Given the description of an element on the screen output the (x, y) to click on. 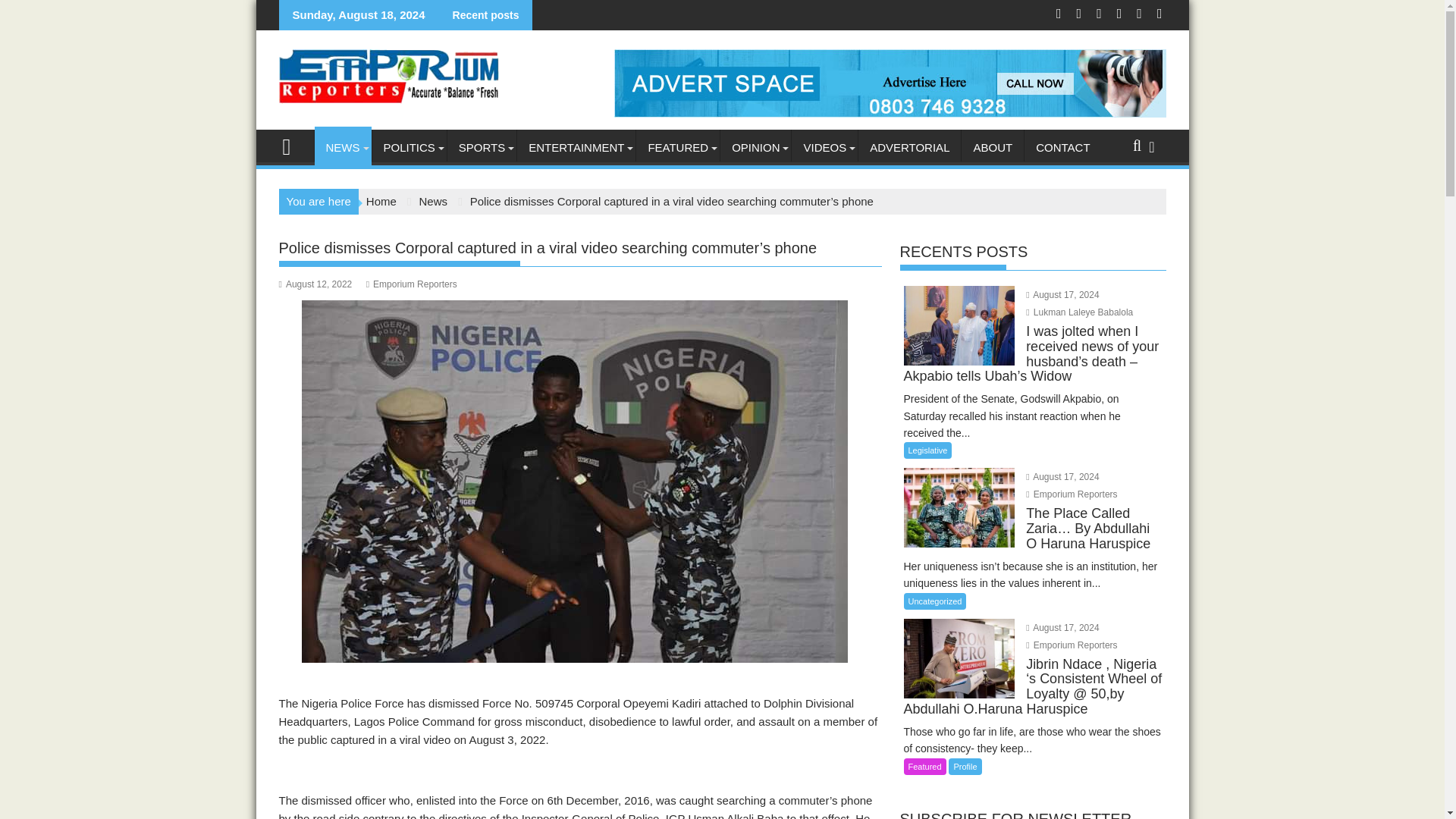
ENTERTAINMENT (575, 147)
Emporium Reporters (293, 145)
Lukman Laleye Babalola (1079, 312)
POLITICS (408, 147)
Emporium Reporters (1071, 493)
FEATURED (677, 147)
Emporium Reporters (1071, 644)
SPORTS (481, 147)
NEWS (342, 147)
